Given the description of an element on the screen output the (x, y) to click on. 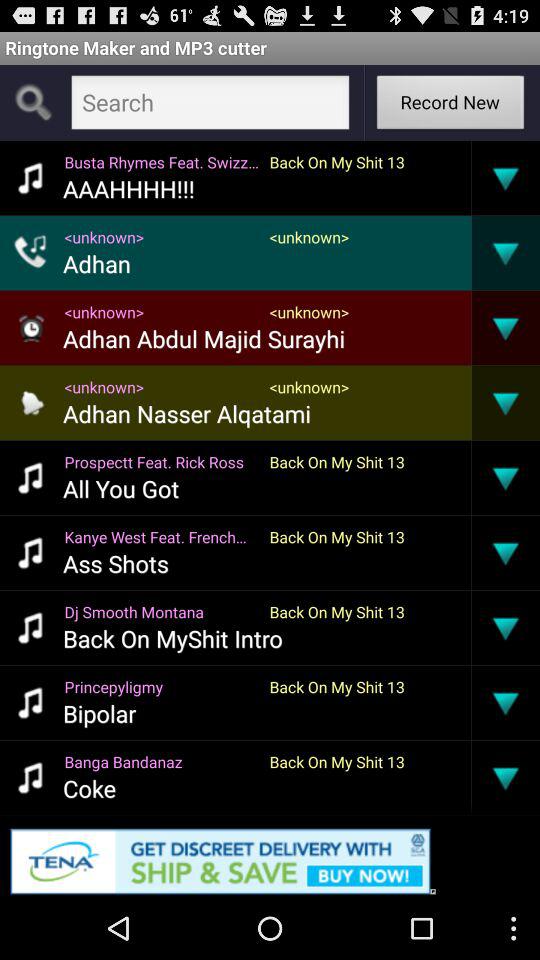
open the item to the left of back on my app (161, 761)
